Given the description of an element on the screen output the (x, y) to click on. 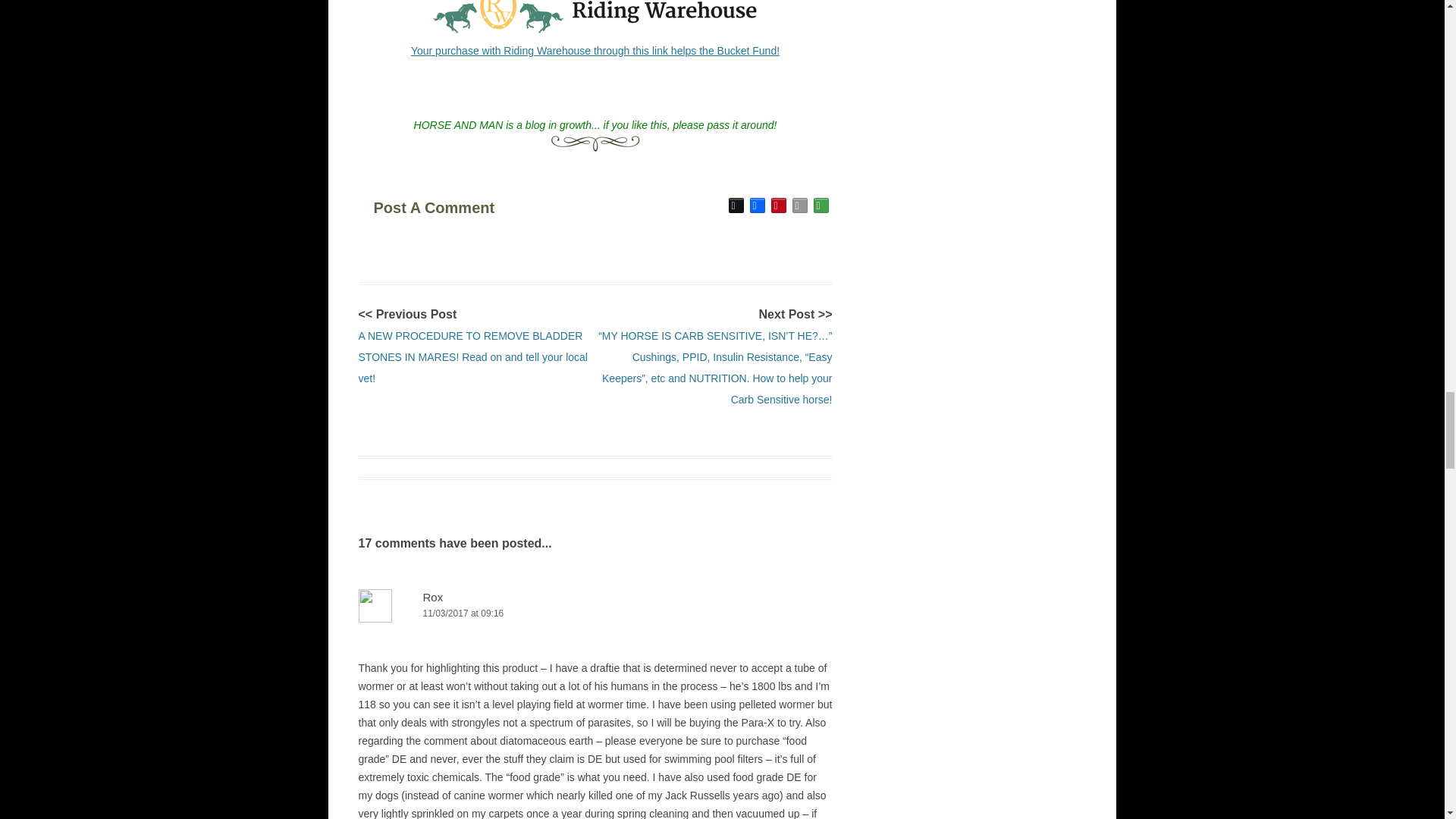
Post A Comment (465, 204)
